Given the description of an element on the screen output the (x, y) to click on. 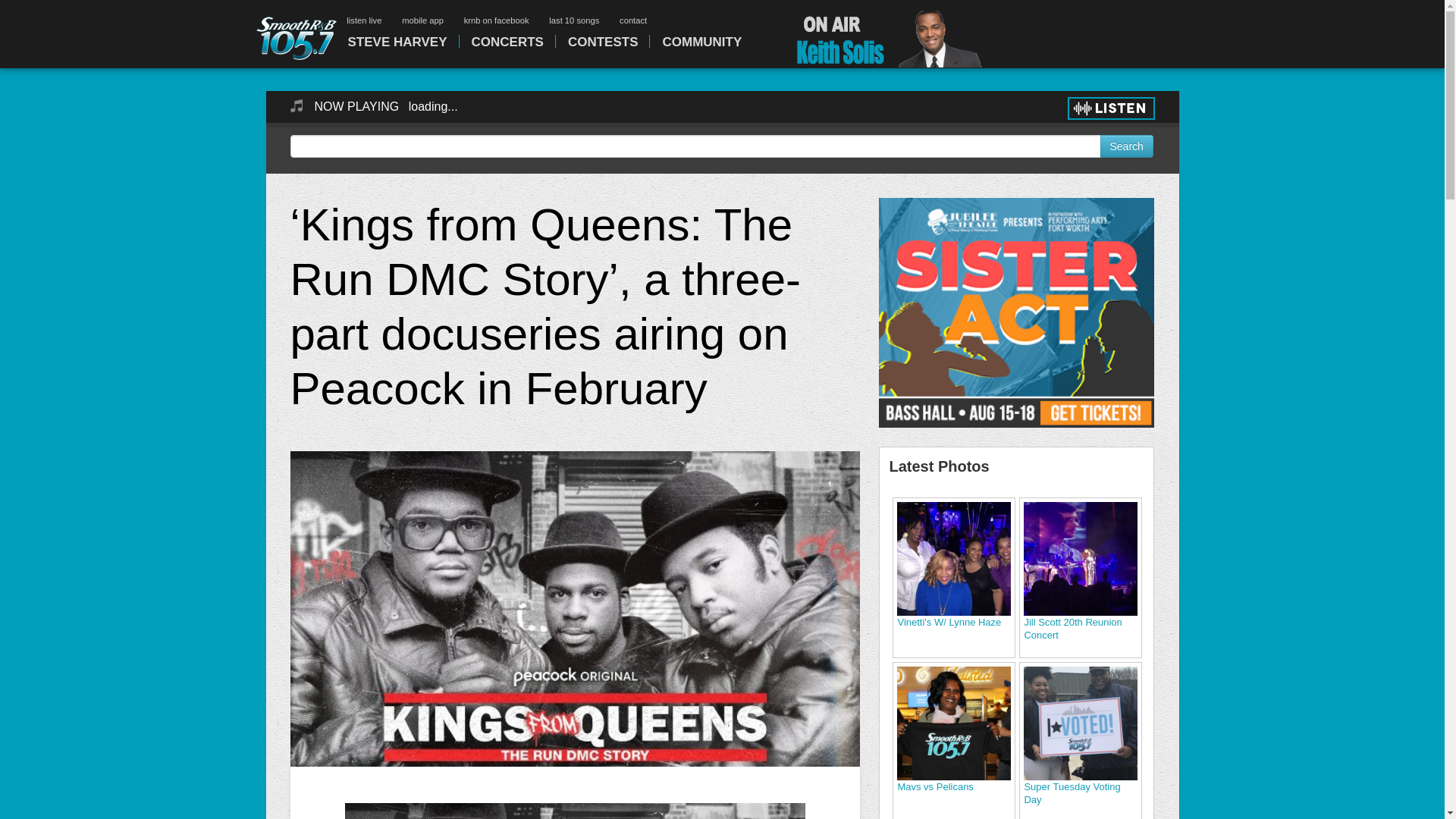
listen live (363, 20)
contact (633, 20)
CONCERTS (507, 41)
Search (1126, 146)
Search (1126, 146)
Contests (602, 41)
krnb on facebook (496, 20)
CONTESTS (602, 41)
Community (700, 41)
Concerts (507, 41)
